Given the description of an element on the screen output the (x, y) to click on. 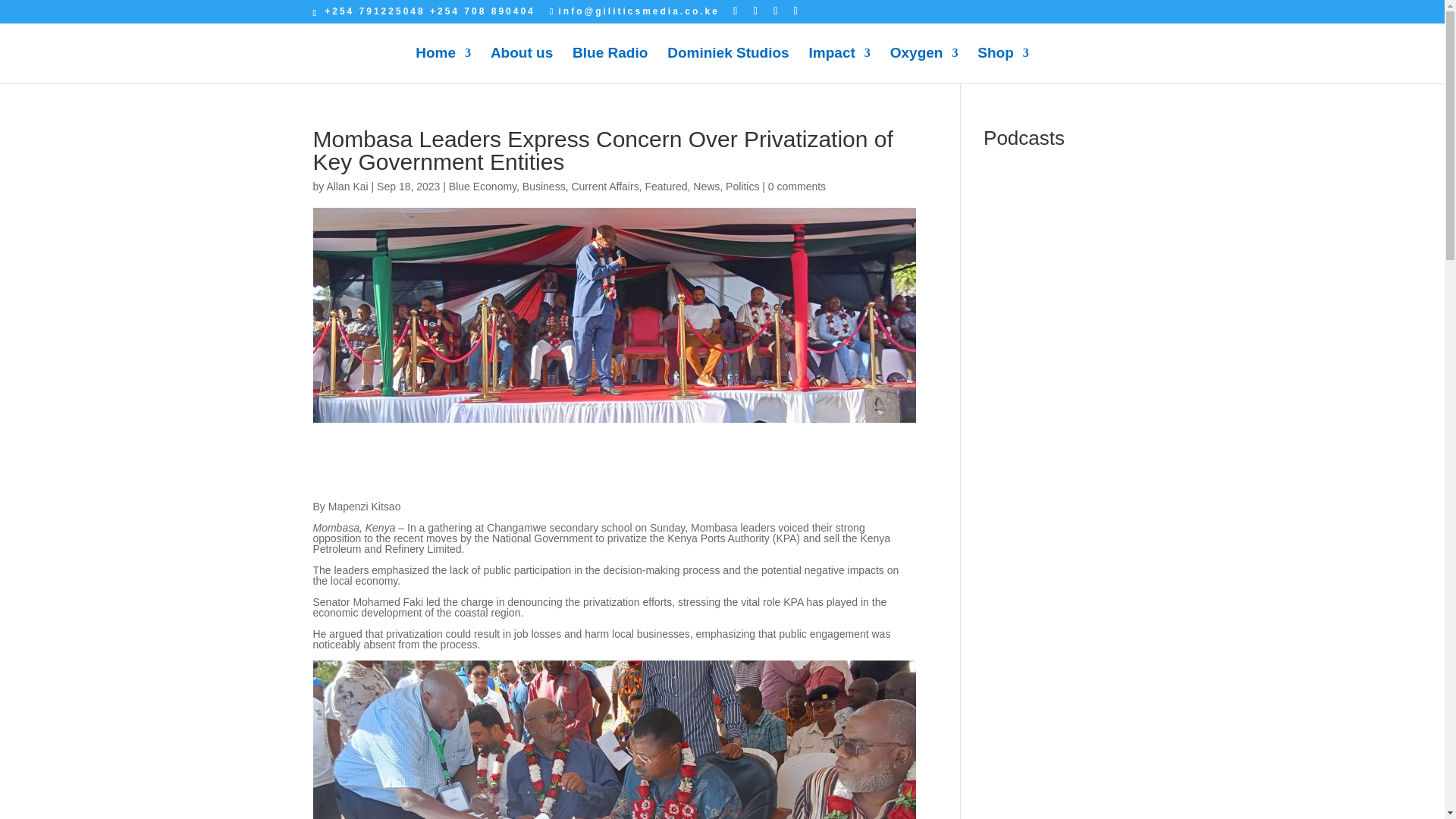
Politics (741, 186)
Oxygen (923, 65)
Featured (666, 186)
News (706, 186)
Blue Radio (609, 65)
Home (442, 65)
Current Affairs (604, 186)
About us (521, 65)
Shop (1002, 65)
Impact (839, 65)
Allan Kai (347, 186)
Posts by Allan Kai (347, 186)
0 comments (796, 186)
Business (544, 186)
Blue Economy (482, 186)
